Given the description of an element on the screen output the (x, y) to click on. 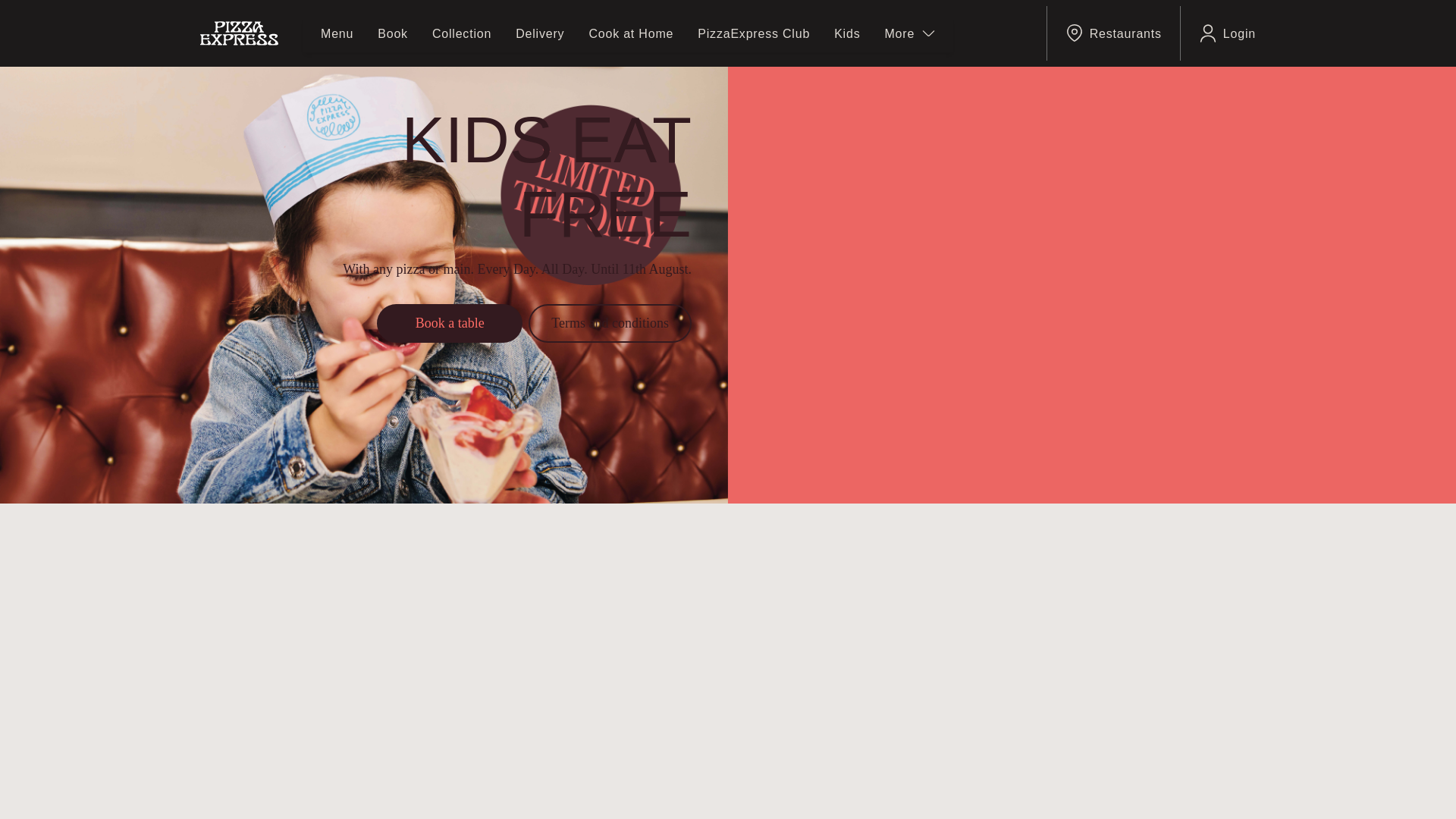
Book (392, 33)
Kids (847, 33)
More (908, 33)
More (908, 33)
Terms and conditions (609, 323)
Collection (462, 33)
PizzaExpress Club (753, 33)
Menu (336, 33)
Cook at Home (630, 33)
Collection (462, 33)
Book (392, 33)
Menu (336, 33)
Delivery (539, 33)
PizzaExpress Club (753, 33)
Cook at Home (630, 33)
